Given the description of an element on the screen output the (x, y) to click on. 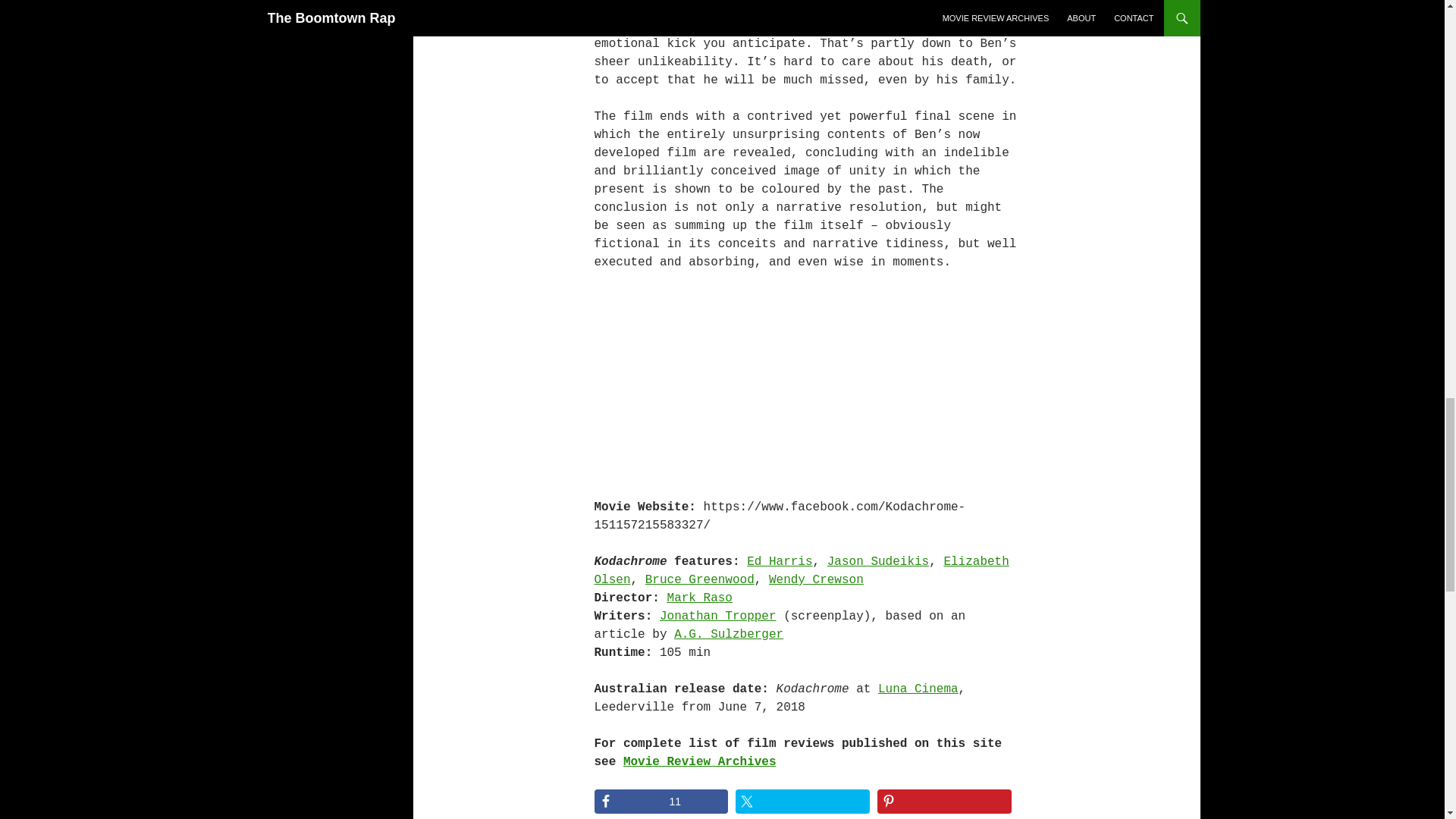
Ed Harris (779, 561)
Elizabeth Olsen (801, 571)
11 (661, 801)
Jason Sudeikis (877, 561)
Mark Raso (699, 598)
Share on Pinterest (944, 801)
Luna Cinema (917, 689)
Bruce Greenwood (699, 580)
Share on Facebook (661, 801)
Jonathan Tropper (717, 616)
Wendy Crewson (815, 580)
Share on Twitter (802, 801)
Movie Review Archives (699, 762)
A.G. Sulzberger (728, 634)
